Given the description of an element on the screen output the (x, y) to click on. 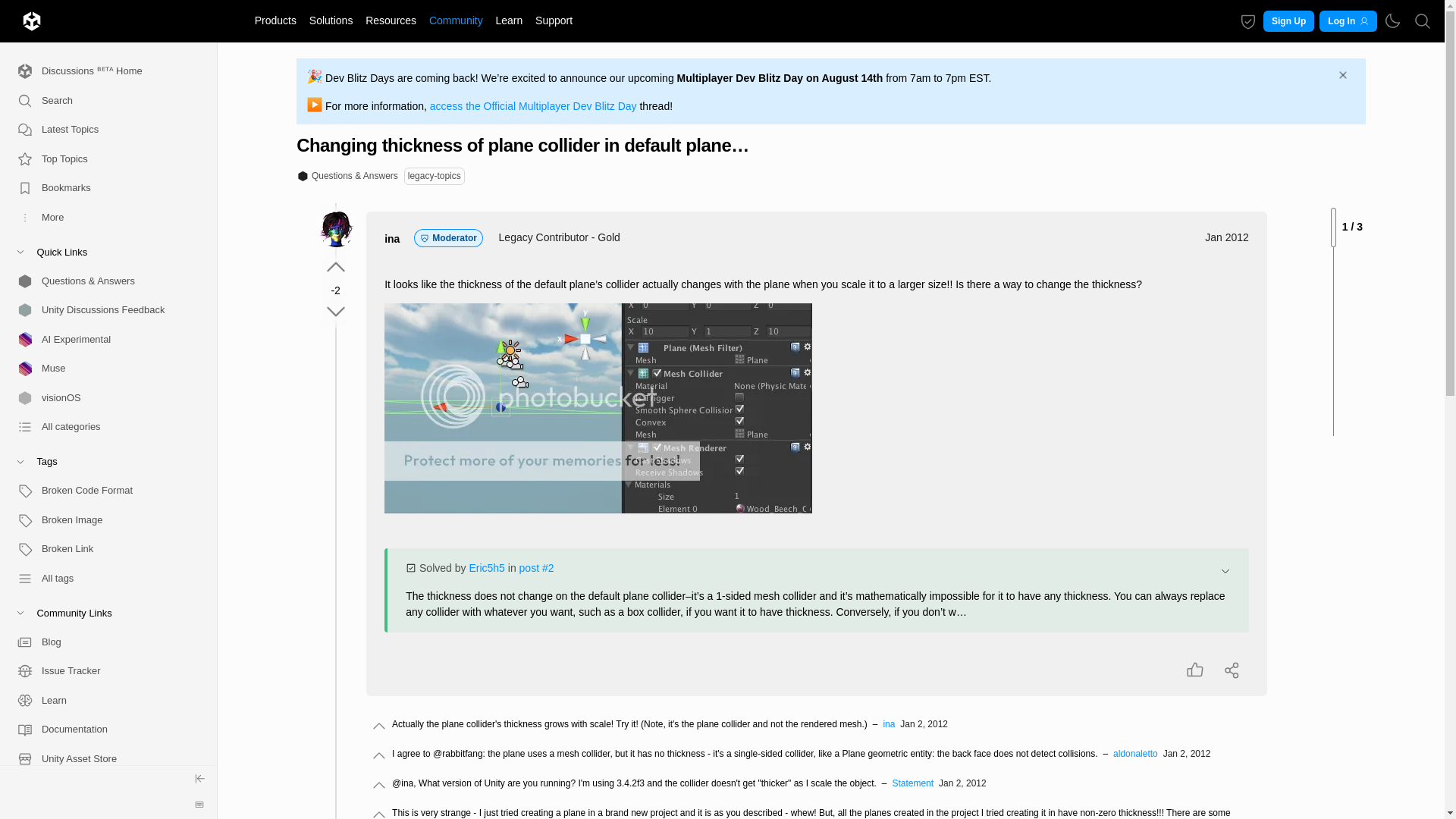
Advocates (102, 810)
Support (554, 20)
Search (102, 100)
Community (455, 20)
User Groups (102, 788)
Unity Asset Store (102, 758)
Cookie settings (1248, 21)
Top Topics (102, 158)
Solutions (330, 20)
Log In (1347, 20)
